Given the description of an element on the screen output the (x, y) to click on. 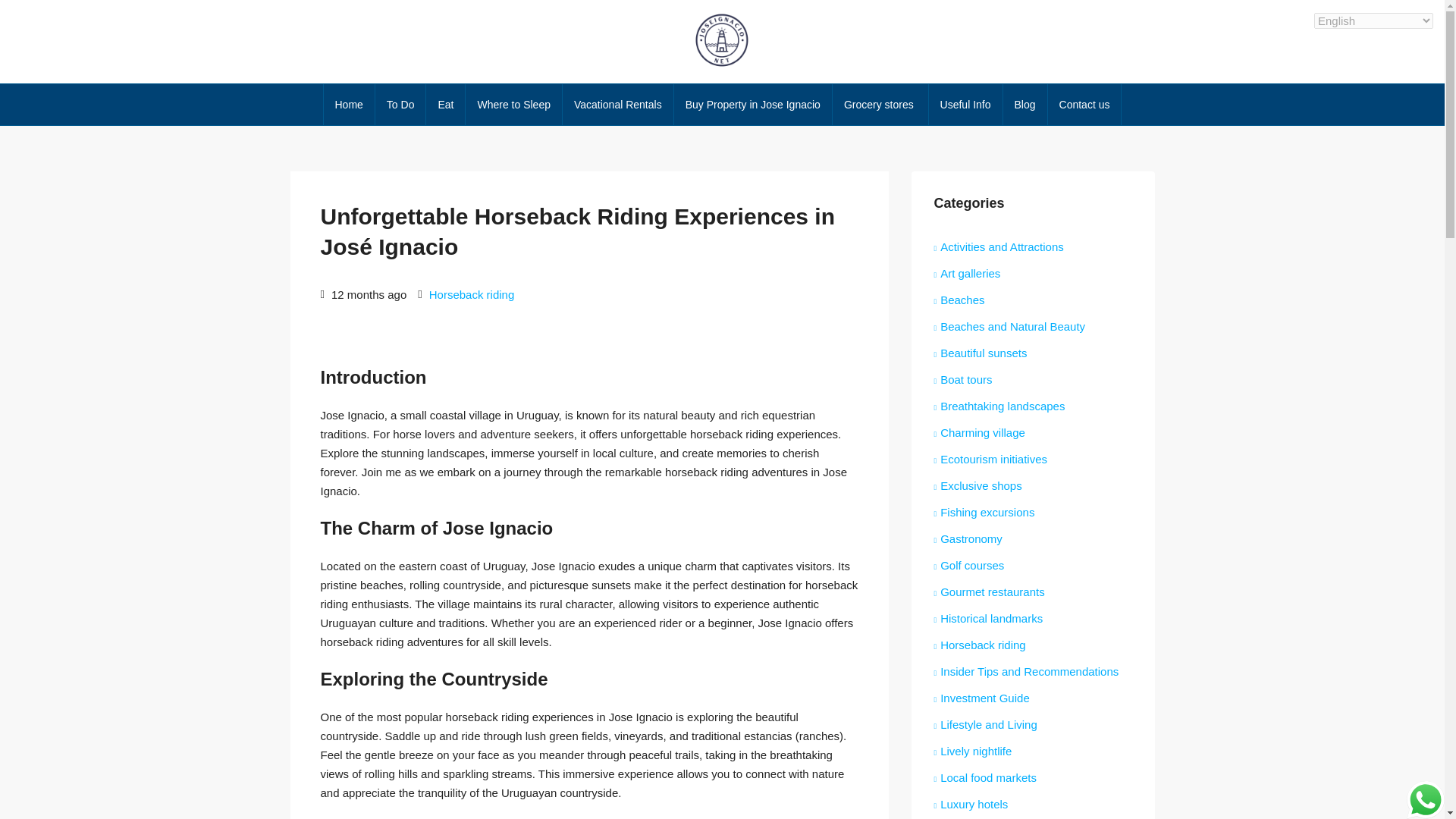
Grocery stores  (880, 104)
Where to Sleep (513, 104)
Buy Property in Jose Ignacio (752, 104)
Useful Info (965, 104)
Blog (1024, 104)
Eat (445, 104)
Beaches and Natural Beauty (1010, 326)
Home (348, 104)
To Do (400, 104)
Contact us (1084, 104)
